Given the description of an element on the screen output the (x, y) to click on. 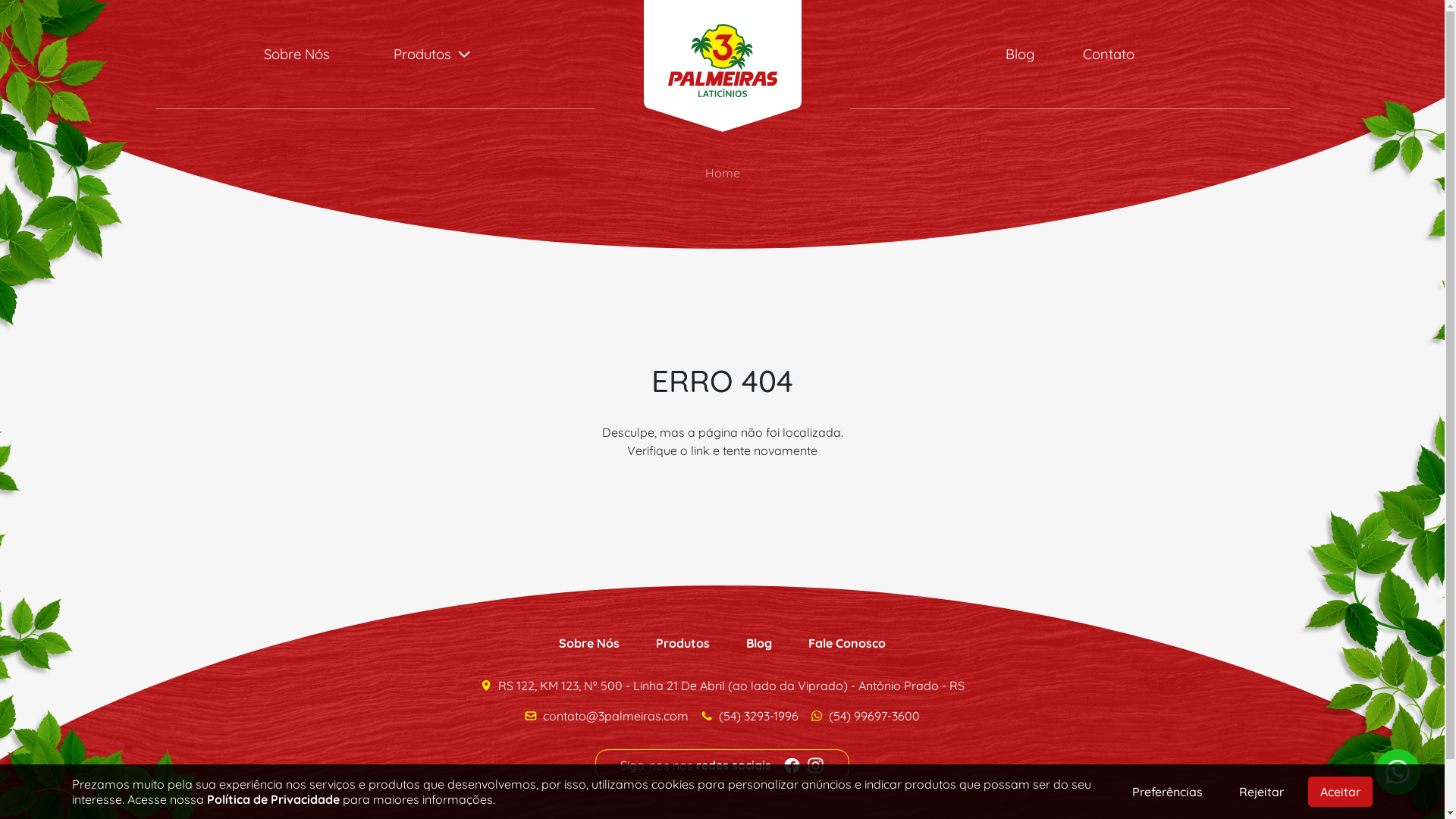
Produtos Element type: text (431, 54)
Rejeitar Element type: text (1260, 791)
Blog Element type: text (758, 642)
Contato Element type: text (1108, 54)
Produtos Element type: text (682, 642)
Blog Element type: text (1019, 54)
Fale Conosco Element type: text (846, 642)
contato@3palmeiras.com Element type: text (606, 715)
Home Element type: text (722, 172)
(54) 99697-3600 Element type: text (864, 715)
(54) 3293-1996 Element type: text (758, 715)
Aceitar Element type: text (1340, 791)
